Given the description of an element on the screen output the (x, y) to click on. 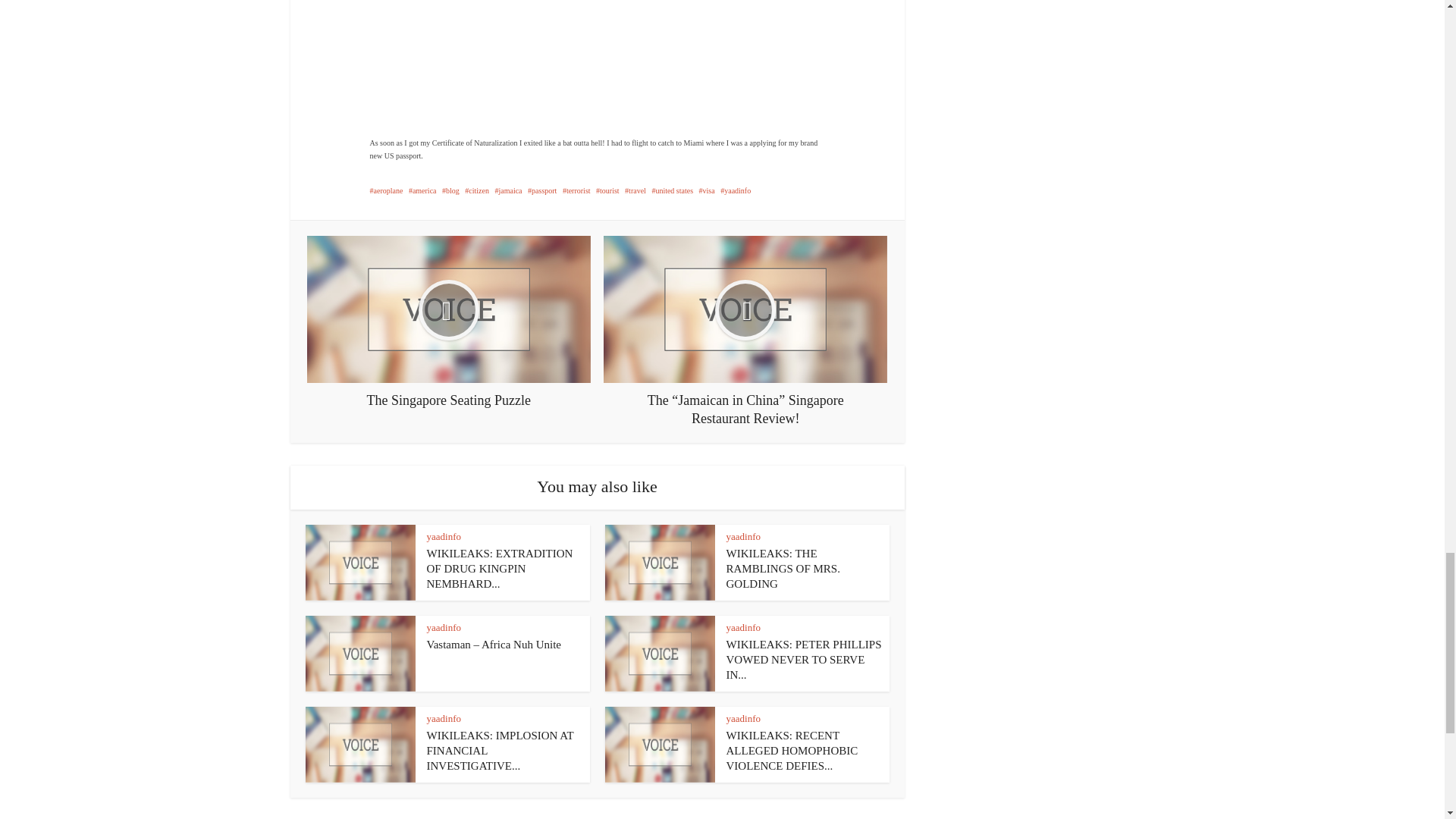
citizen (476, 190)
passport (541, 190)
yaadinfo (443, 536)
The Singapore Seating Puzzle (449, 321)
visa (706, 190)
WIKILEAKS: THE RAMBLINGS OF MRS. GOLDING (783, 568)
america (422, 190)
jamaica (508, 190)
yaadinfo (743, 536)
aeroplane (386, 190)
